Given the description of an element on the screen output the (x, y) to click on. 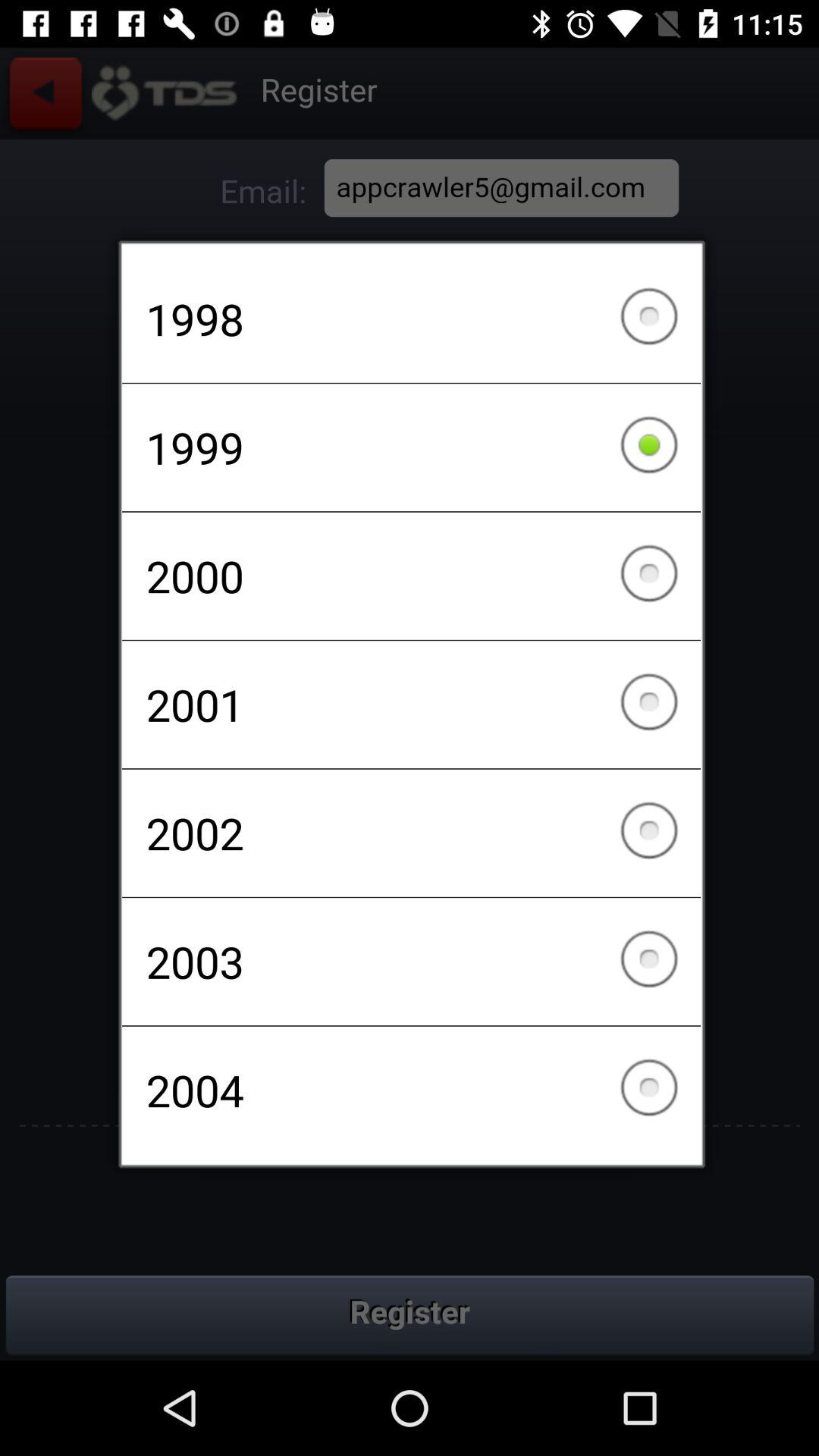
jump until 1999 checkbox (411, 447)
